Given the description of an element on the screen output the (x, y) to click on. 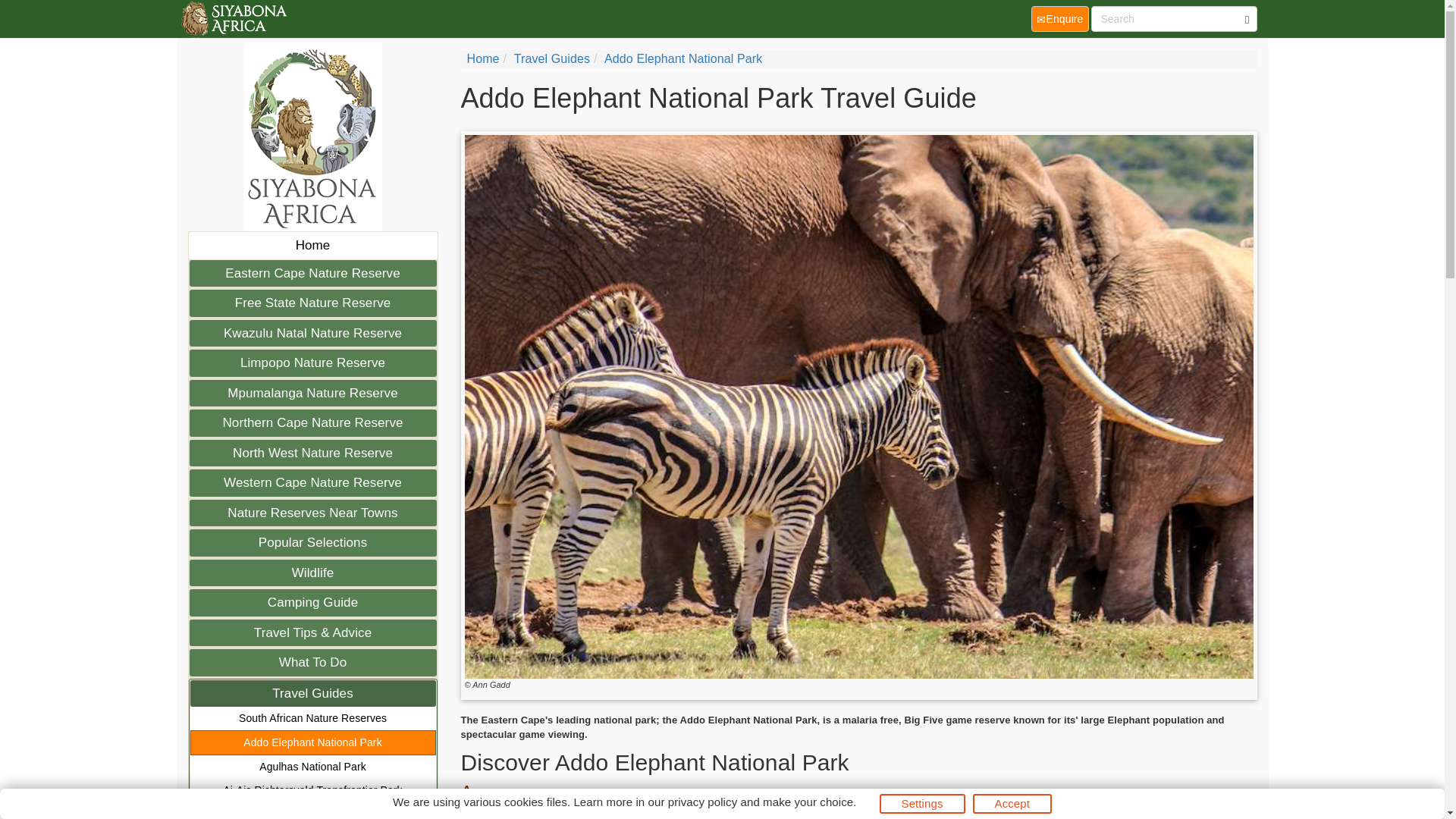
North West Nature Reserve (312, 452)
Mpumalanga Nature Reserve (312, 392)
What To Do (312, 662)
Free State Nature Reserve (312, 302)
Agulhas National Park (312, 766)
Limpopo Nature Reserve (312, 362)
Addo Elephant National Park (312, 742)
Home (311, 245)
Augrabies Falls National Park (312, 810)
Western Cape Nature Reserve (312, 482)
home (232, 18)
Kwazulu Natal Nature Reserve (312, 333)
Ai-Ais Richtersveld Transfrontier Park (312, 790)
Northern Cape Nature Reserve (312, 422)
Camping Guide (312, 602)
